Given the description of an element on the screen output the (x, y) to click on. 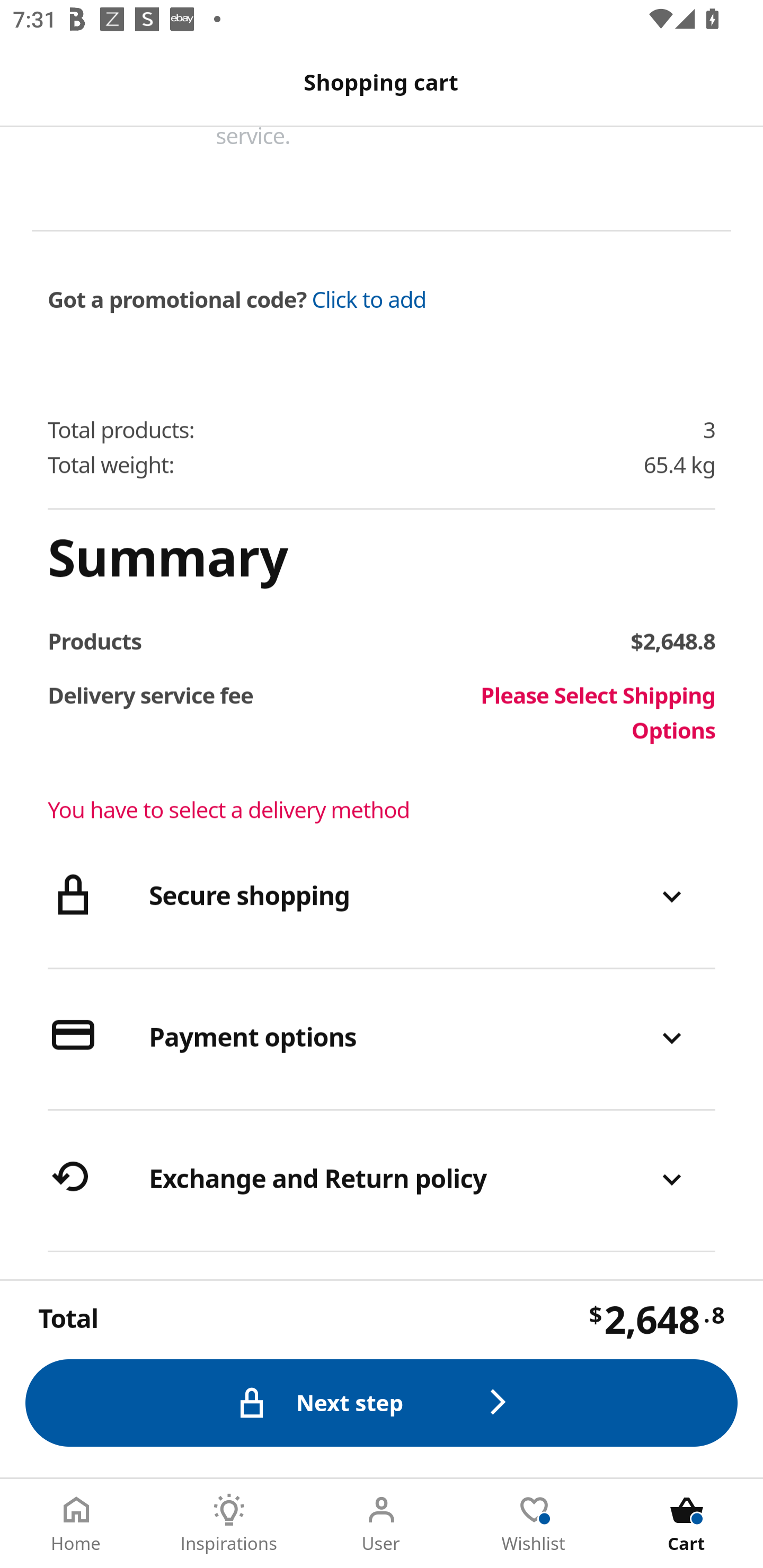
Click to add (369, 299)
 Next step  (381, 1403)
Home
Tab 1 of 5 (76, 1522)
Inspirations
Tab 2 of 5 (228, 1522)
User
Tab 3 of 5 (381, 1522)
Wishlist
Tab 4 of 5 (533, 1522)
Cart
Tab 5 of 5 (686, 1522)
